Given the description of an element on the screen output the (x, y) to click on. 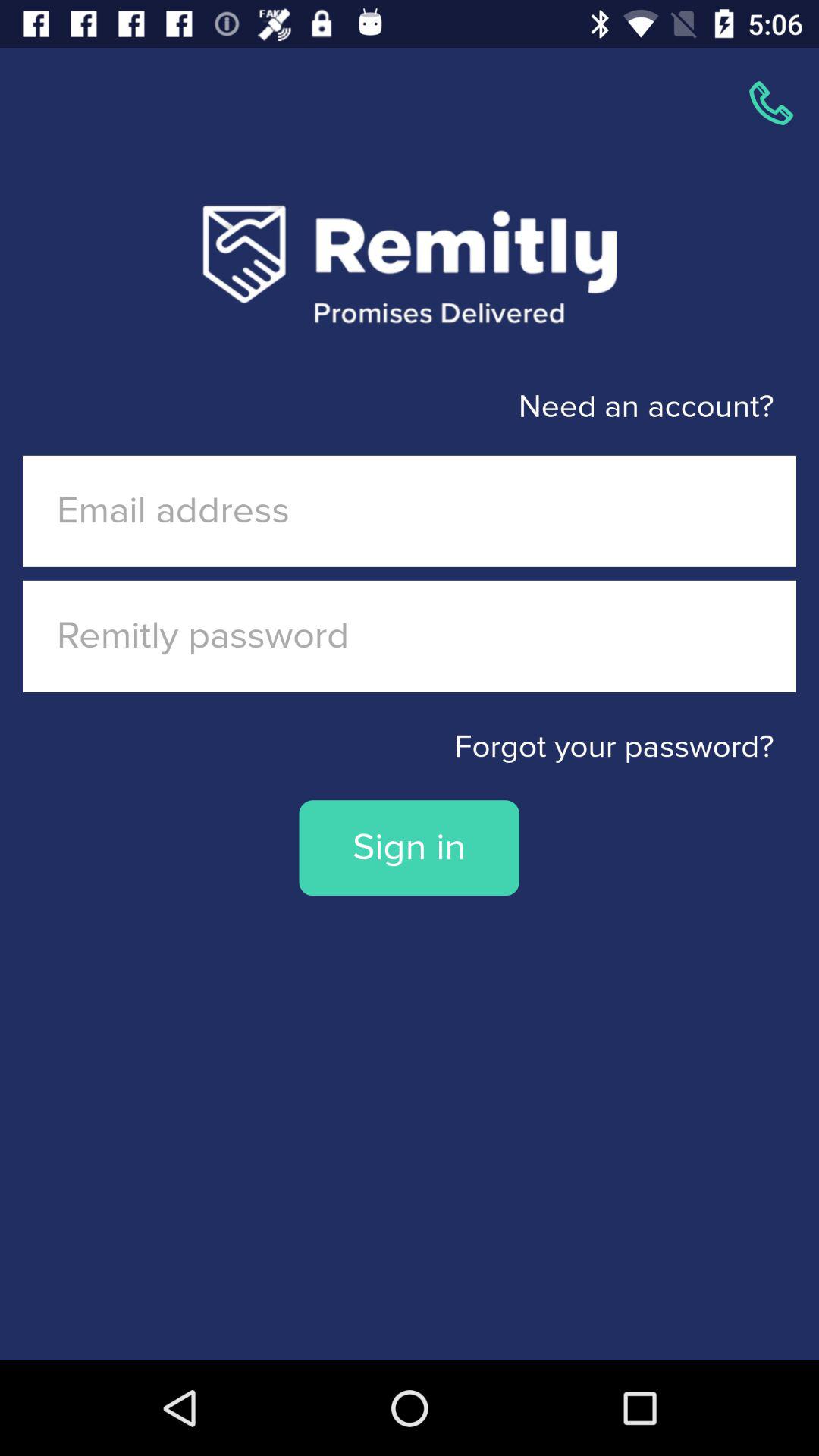
scroll until need an account? (387, 406)
